Given the description of an element on the screen output the (x, y) to click on. 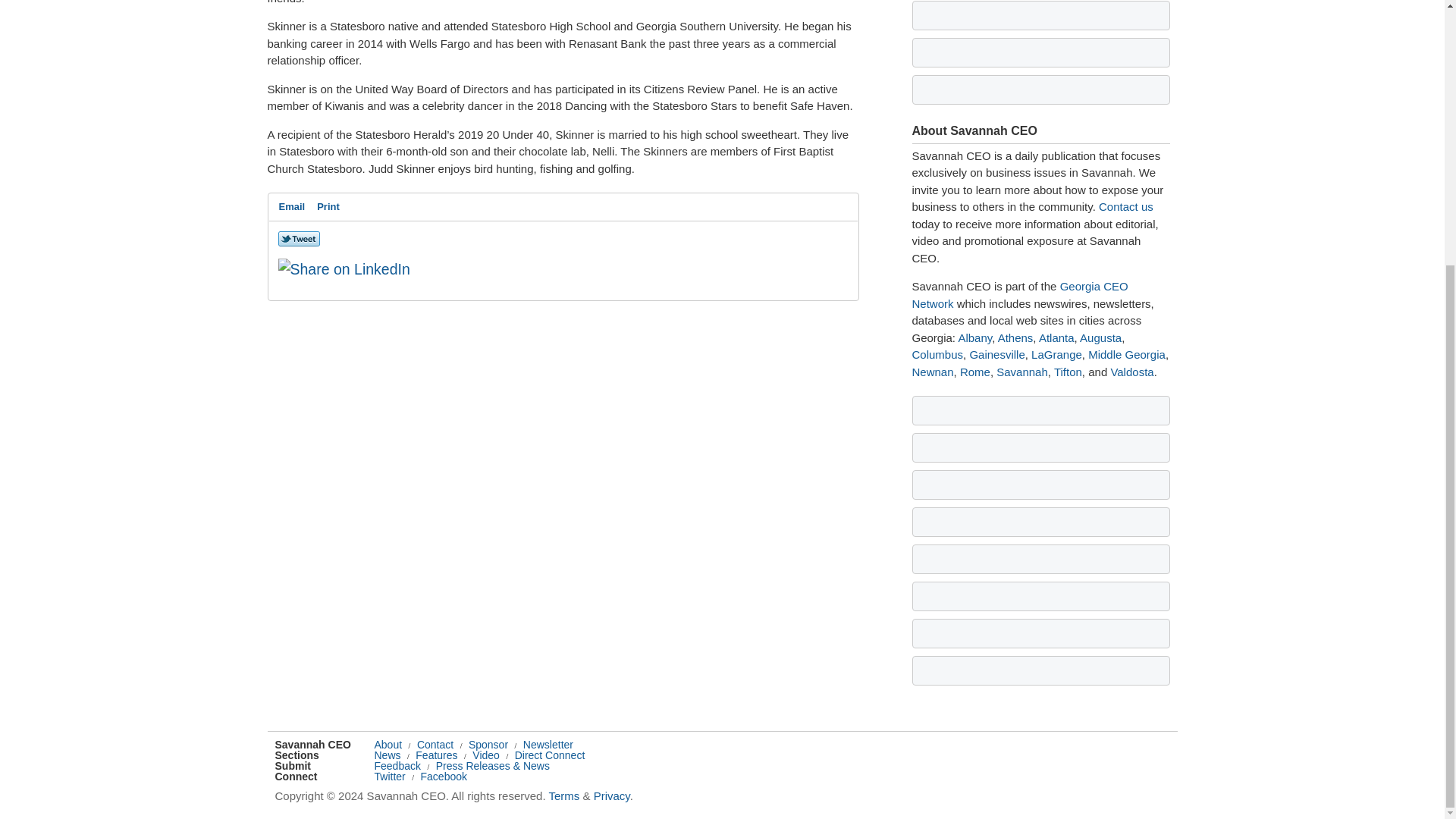
Georgia CEO Network (1018, 295)
Albany (974, 337)
Print (328, 207)
Contact us (1126, 205)
Email (292, 207)
